Given the description of an element on the screen output the (x, y) to click on. 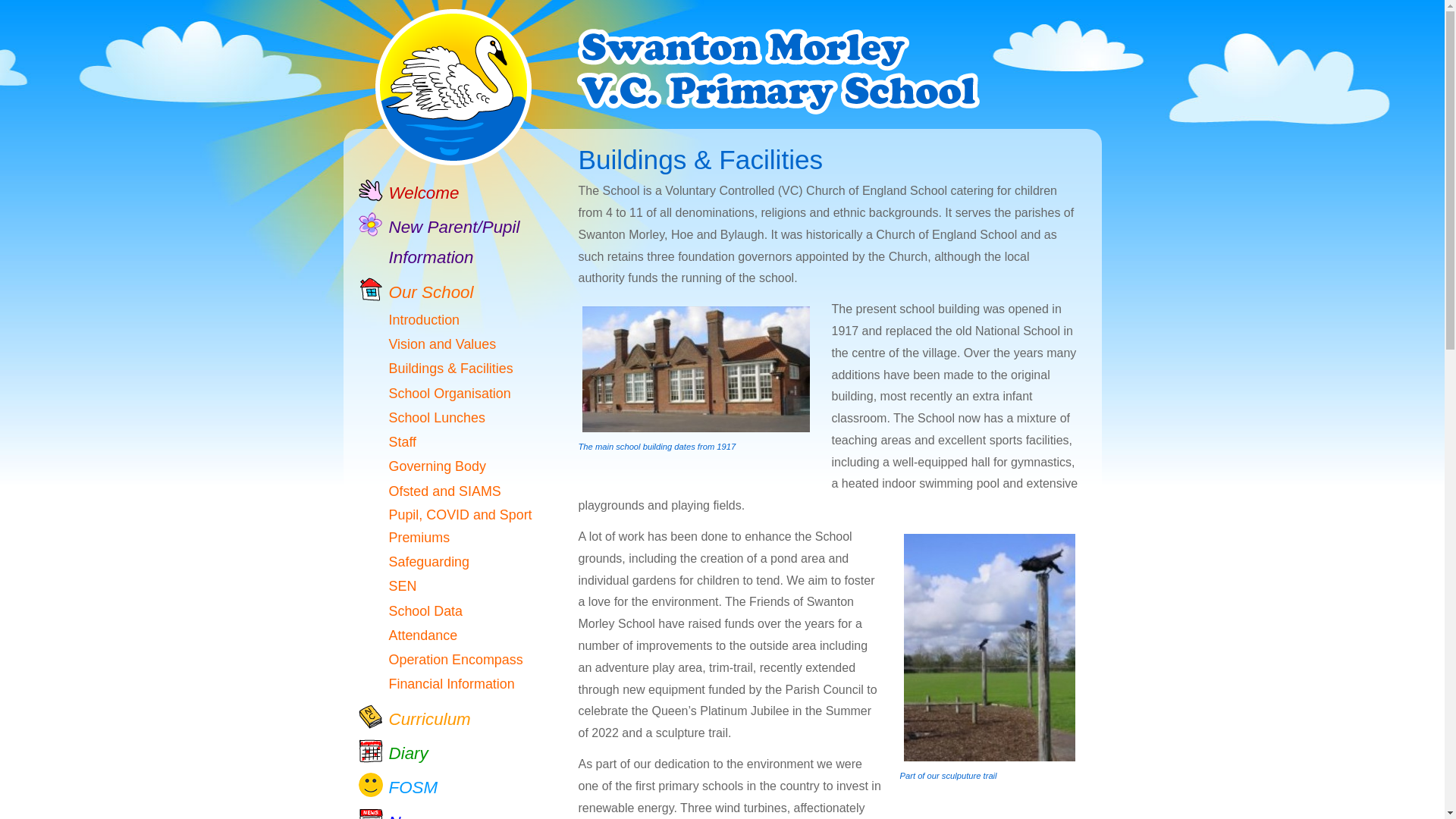
Vision and Values (427, 343)
Safeguarding (413, 561)
SEN (387, 585)
Curriculum (414, 719)
School Data (410, 610)
Attendance (407, 635)
Staff (387, 441)
Operation Encompass (440, 659)
Welcome (408, 193)
Introduction (409, 319)
Financial Information (435, 683)
Our School (415, 292)
Governing Body (421, 466)
Diary (393, 753)
Pupil, COVID and Sport Premiums (456, 525)
